Given the description of an element on the screen output the (x, y) to click on. 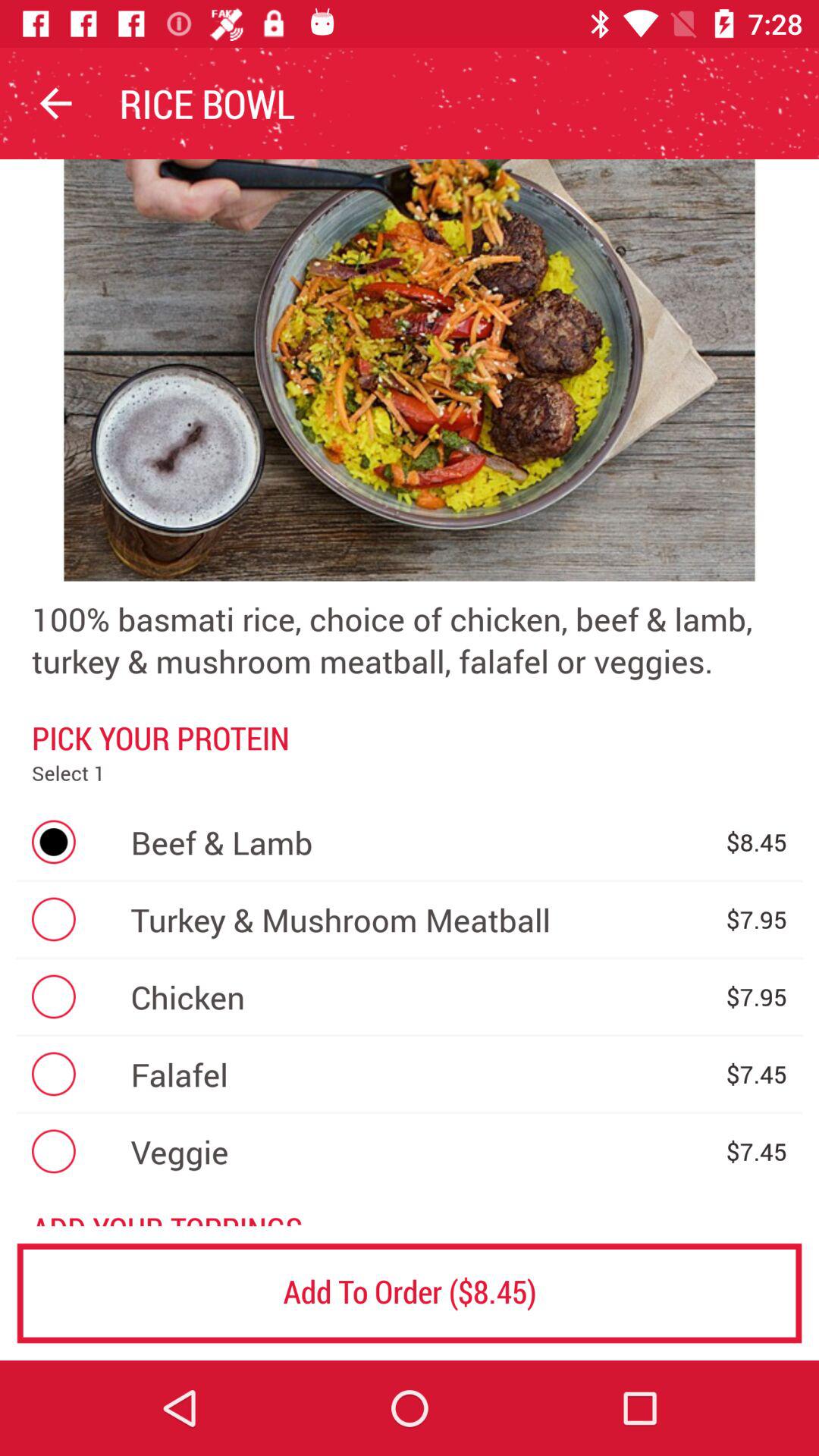
swipe to the add to order item (409, 1293)
